Given the description of an element on the screen output the (x, y) to click on. 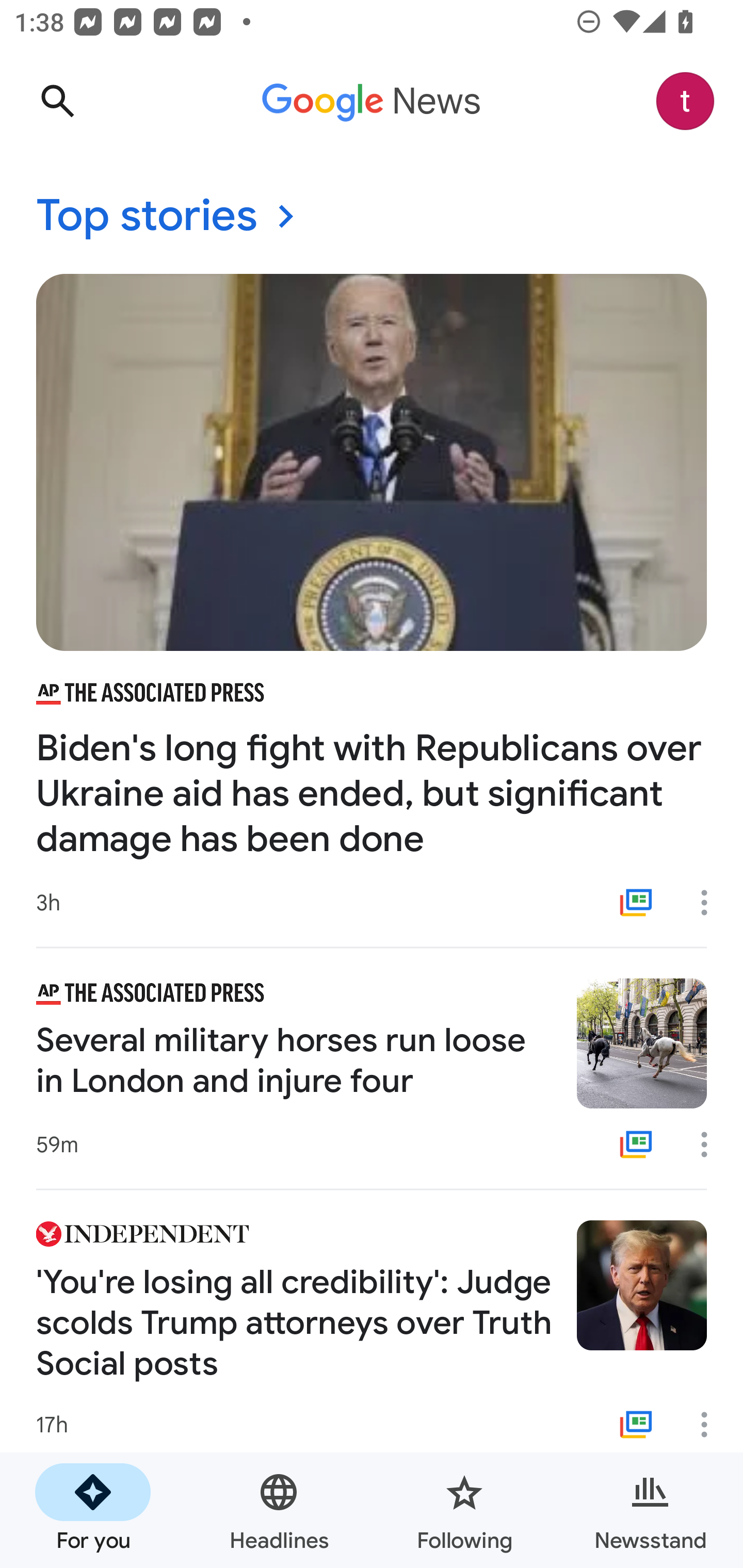
Search (57, 100)
Top stories (371, 216)
More options (711, 902)
More options (711, 1144)
More options (711, 1424)
For you (92, 1509)
Headlines (278, 1509)
Following (464, 1509)
Newsstand (650, 1509)
